Given the description of an element on the screen output the (x, y) to click on. 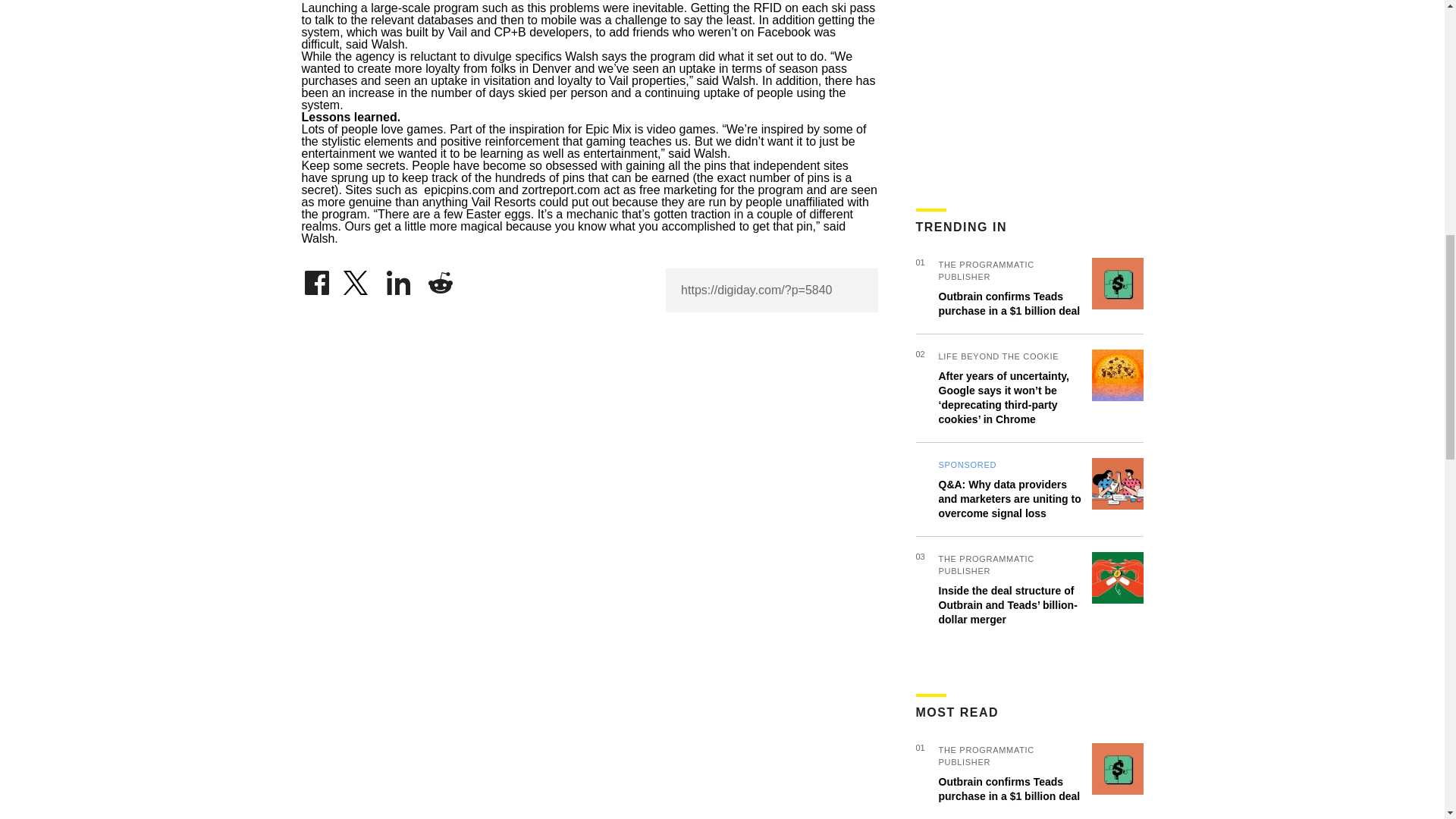
3rd party ad content (1028, 89)
Share on Twitter (357, 278)
Share on Reddit (440, 278)
Share on Facebook (316, 278)
Share on LinkedIn (398, 278)
